Given the description of an element on the screen output the (x, y) to click on. 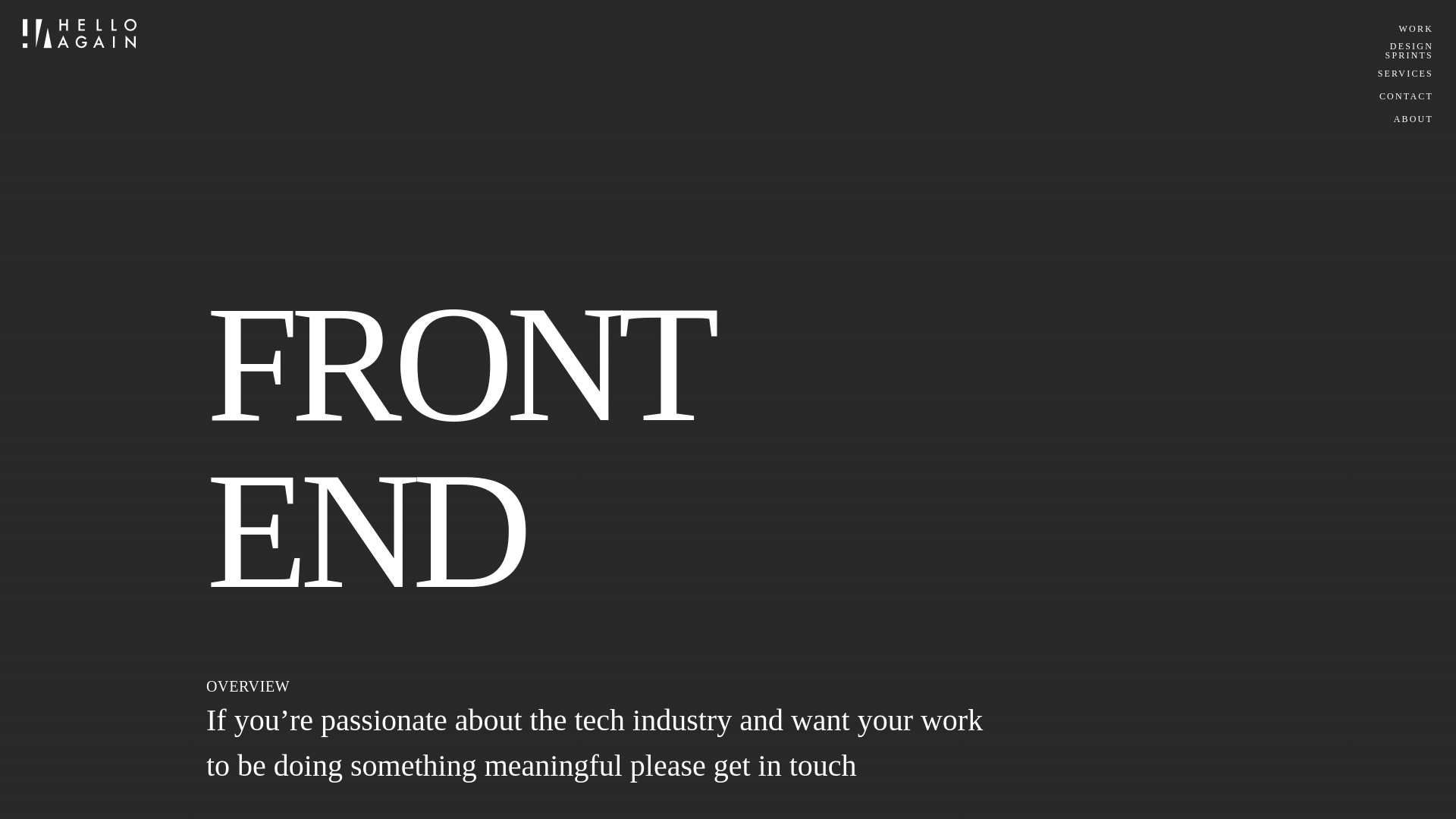
CONTACT (1405, 95)
SERVICES (1404, 50)
WORK (1404, 72)
ABOUT (1415, 28)
